Given the description of an element on the screen output the (x, y) to click on. 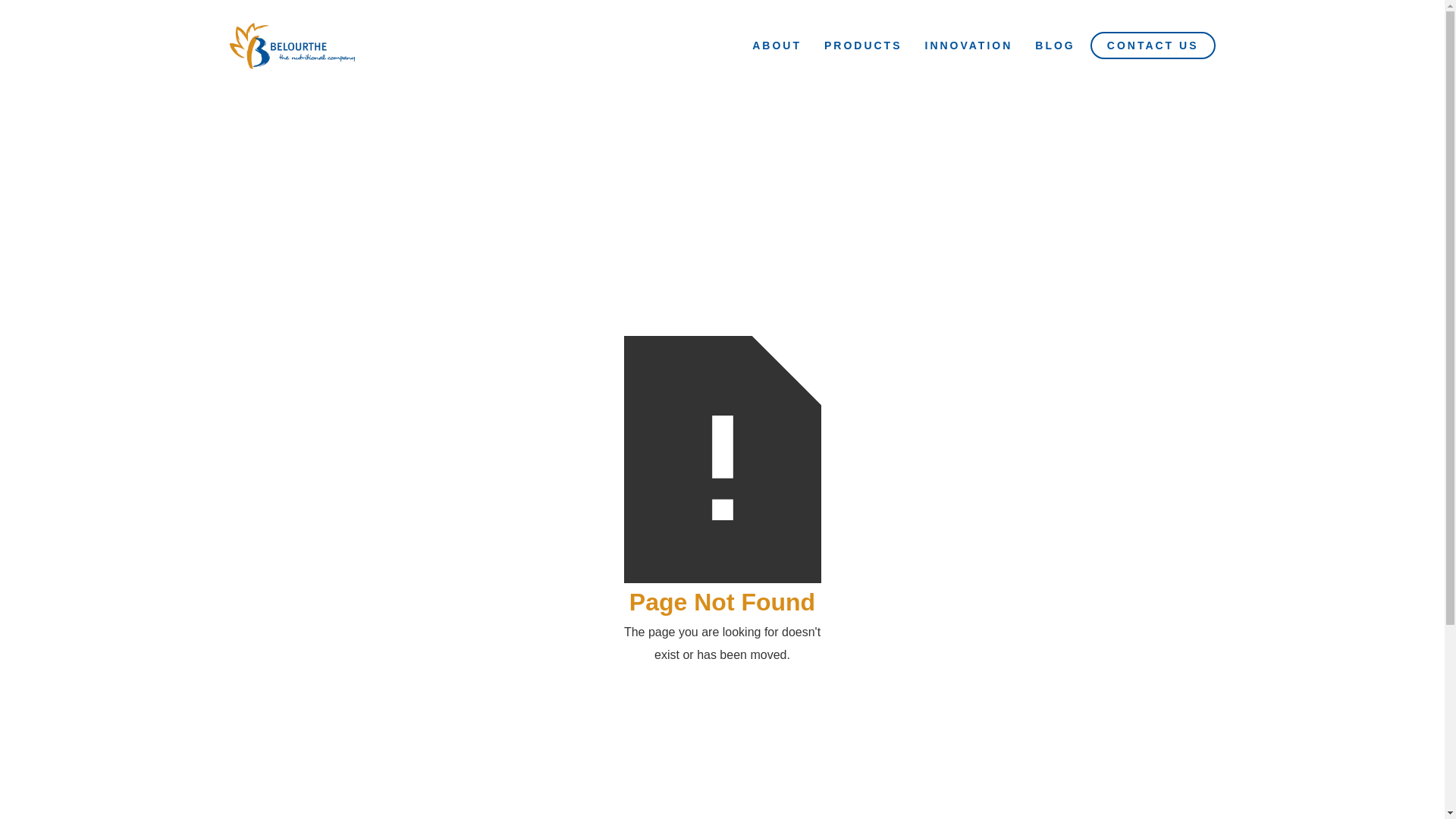
CONTACT US Element type: text (1152, 45)
ABOUT Element type: text (776, 45)
BLOG Element type: text (1054, 45)
PRODUCTS Element type: text (862, 45)
INNOVATION Element type: text (968, 45)
